Given the description of an element on the screen output the (x, y) to click on. 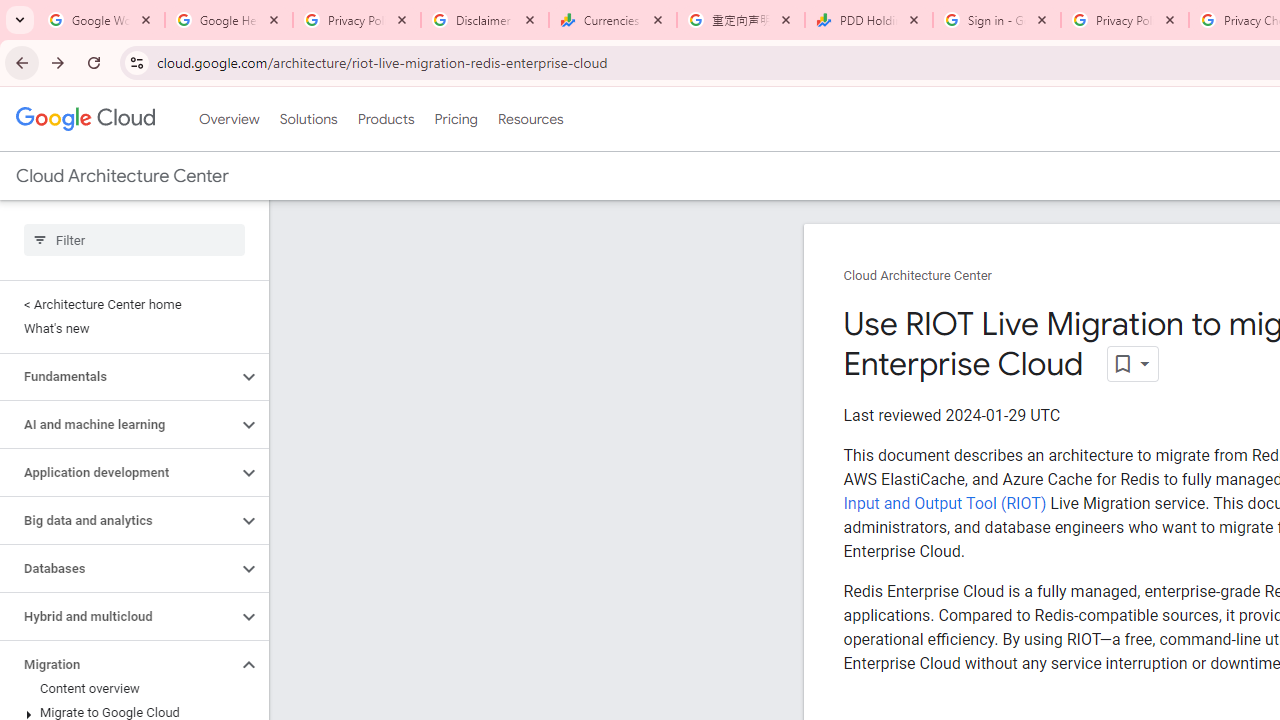
Big data and analytics (118, 520)
Sign in - Google Accounts (997, 20)
Application development (118, 472)
